Given the description of an element on the screen output the (x, y) to click on. 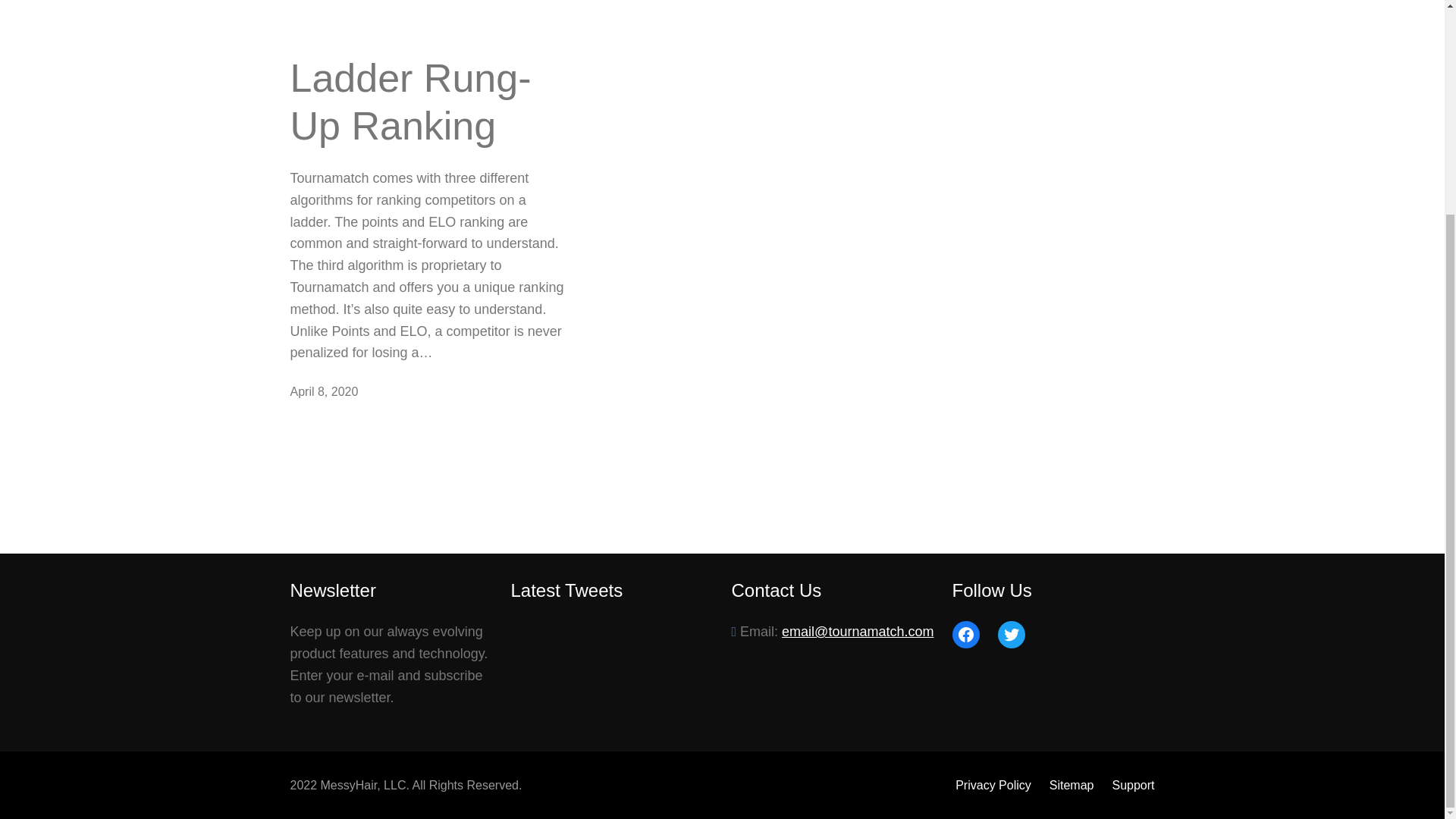
Sitemap (1071, 785)
Privacy Policy (992, 785)
Support (1133, 785)
Twitter (1011, 634)
Ladder Rung-Up Ranking (427, 101)
April 8, 2020 (323, 391)
Facebook (965, 634)
